Given the description of an element on the screen output the (x, y) to click on. 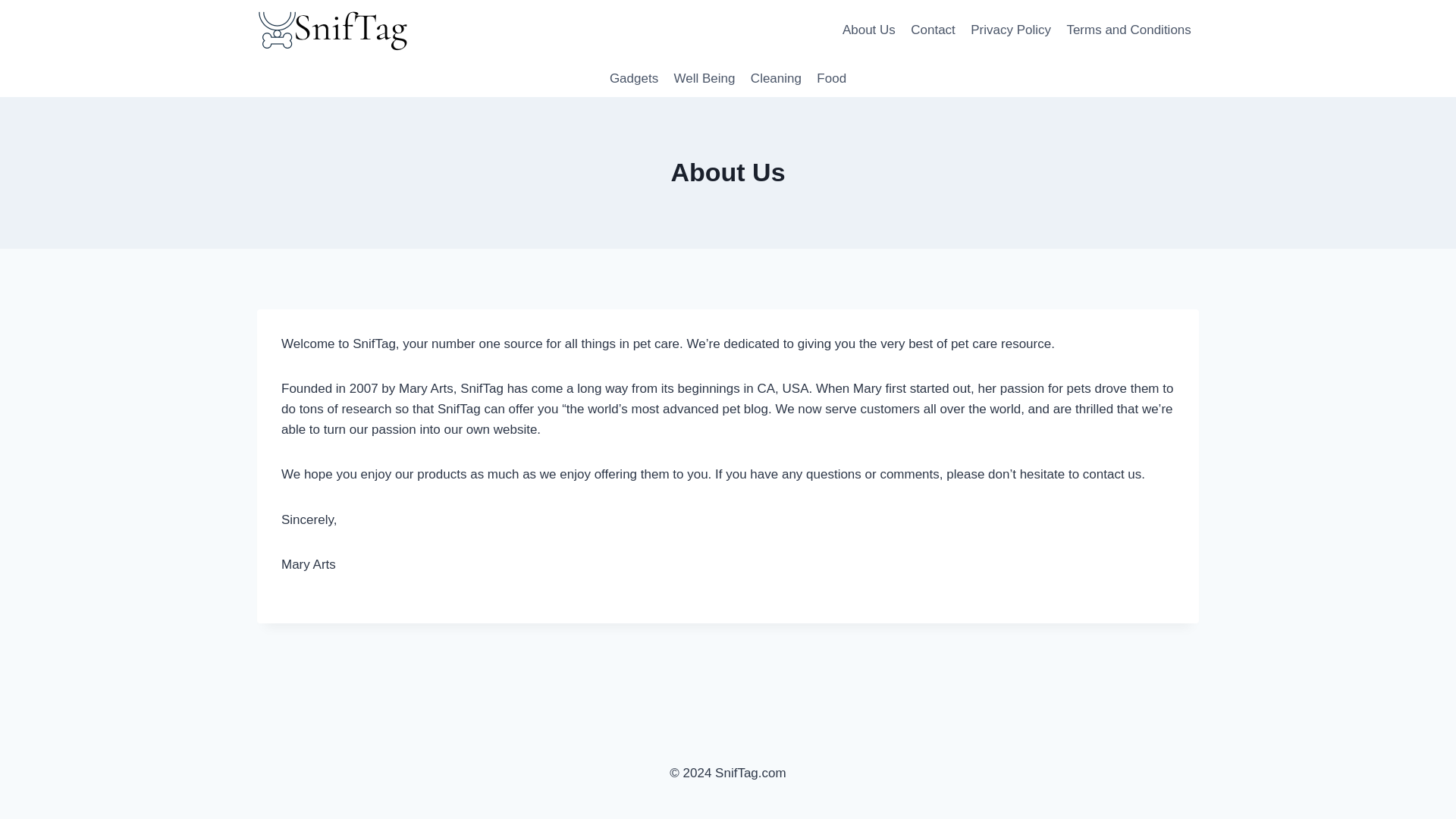
About Us (868, 30)
Contact (932, 30)
Well Being (703, 78)
Privacy Policy (1010, 30)
Terms and Conditions (1128, 30)
Gadgets (634, 78)
Food (831, 78)
Cleaning (775, 78)
